Given the description of an element on the screen output the (x, y) to click on. 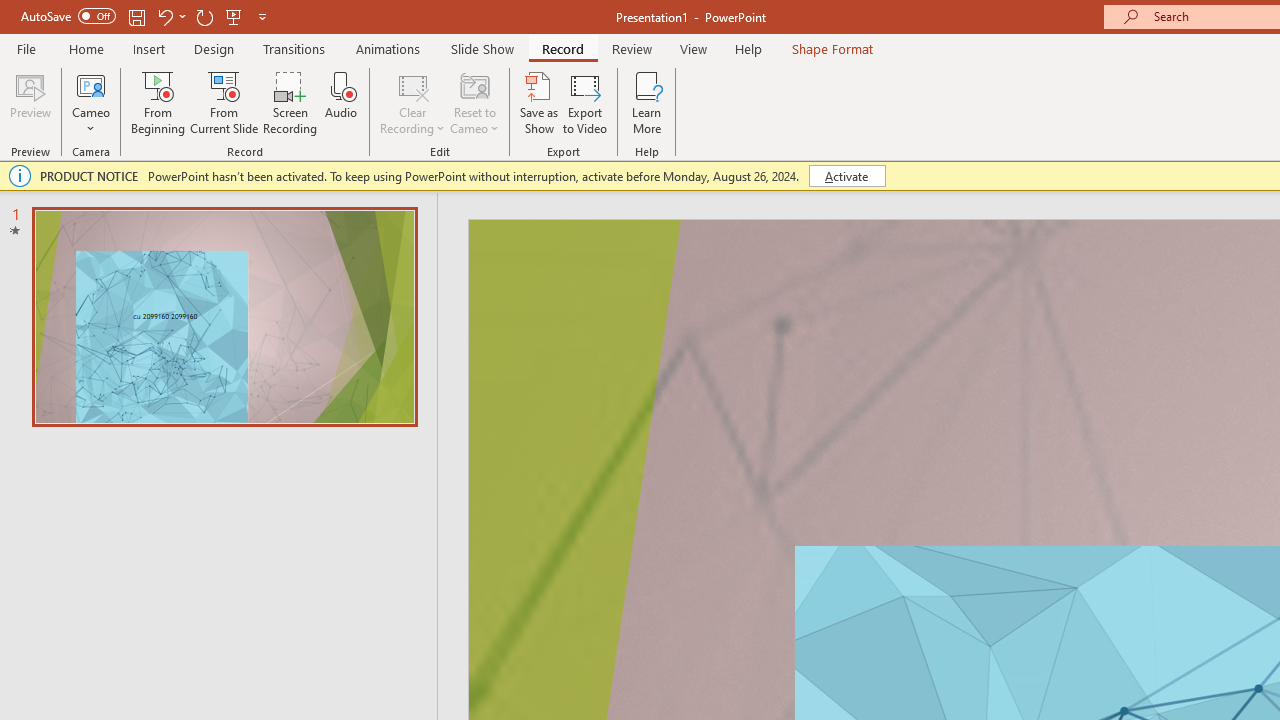
Activate (846, 175)
